Given the description of an element on the screen output the (x, y) to click on. 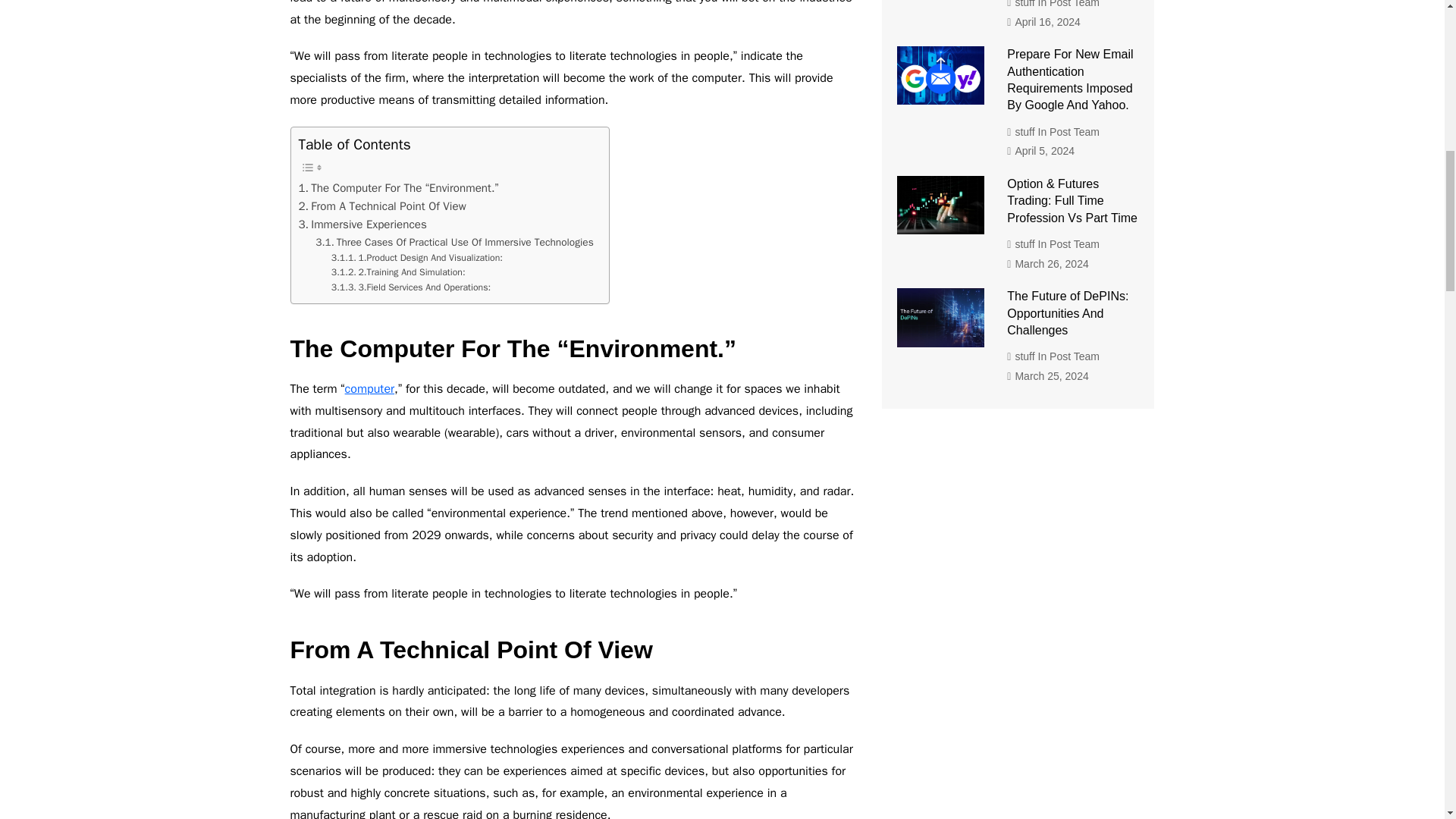
Three Cases Of Practical Use Of Immersive Technologies (454, 242)
3.Field Services And Operations: (411, 287)
3.Field Services And Operations: (411, 287)
From A Technical Point Of View (381, 206)
Immersive Experiences (362, 224)
2.Training And Simulation: (398, 272)
1.Product Design And Visualization: (416, 257)
Three Cases Of Practical Use Of Immersive Technologies (454, 242)
From A Technical Point Of View (381, 206)
2.Training And Simulation: (398, 272)
1.Product Design And Visualization: (416, 257)
Immersive Experiences (362, 224)
